Given the description of an element on the screen output the (x, y) to click on. 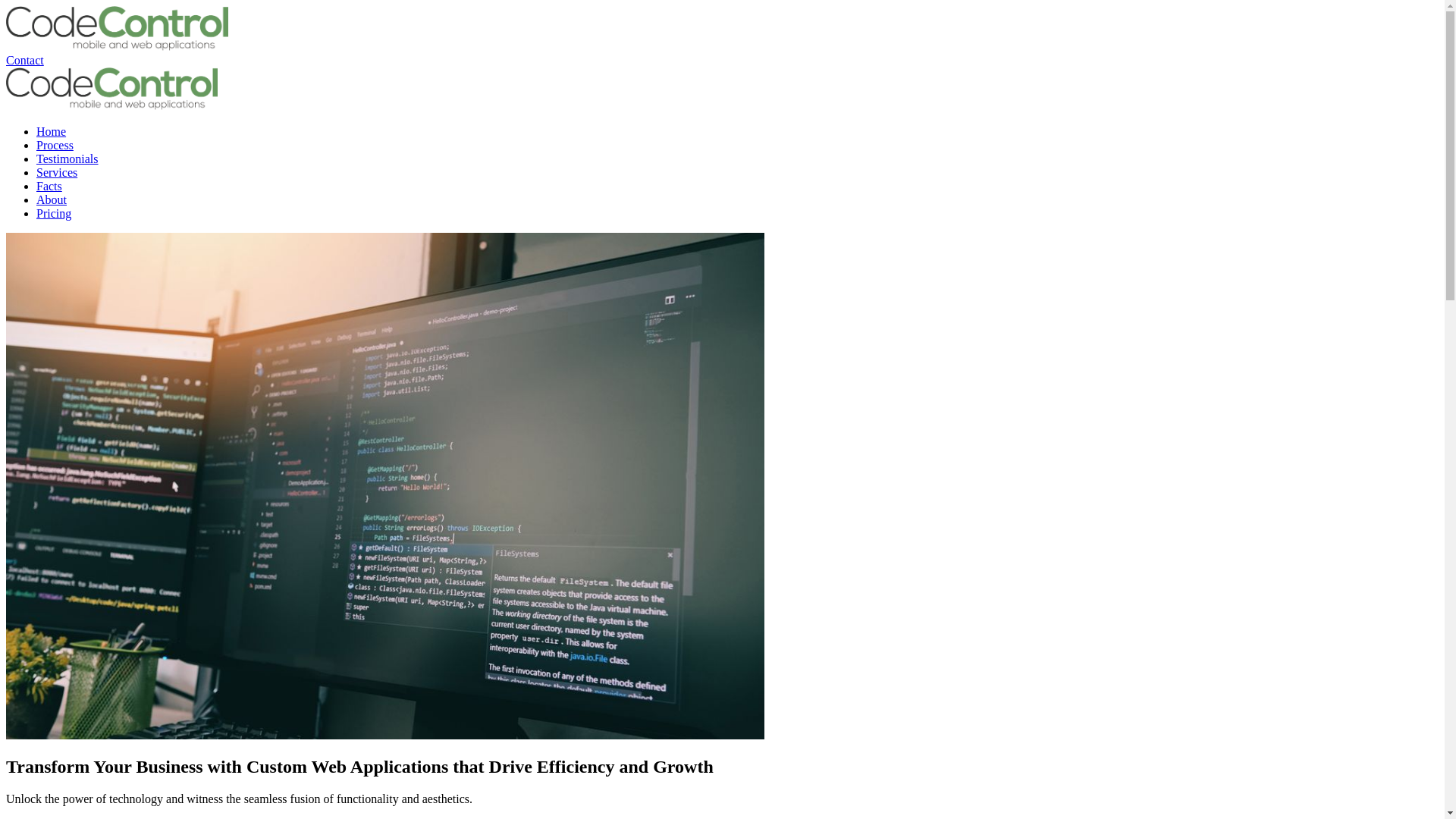
Pricing Element type: text (53, 213)
Contact Element type: text (24, 59)
Home Element type: text (50, 131)
About Element type: text (51, 199)
Testimonials Element type: text (67, 158)
Process Element type: text (54, 144)
Services Element type: text (56, 172)
Facts Element type: text (49, 185)
